Given the description of an element on the screen output the (x, y) to click on. 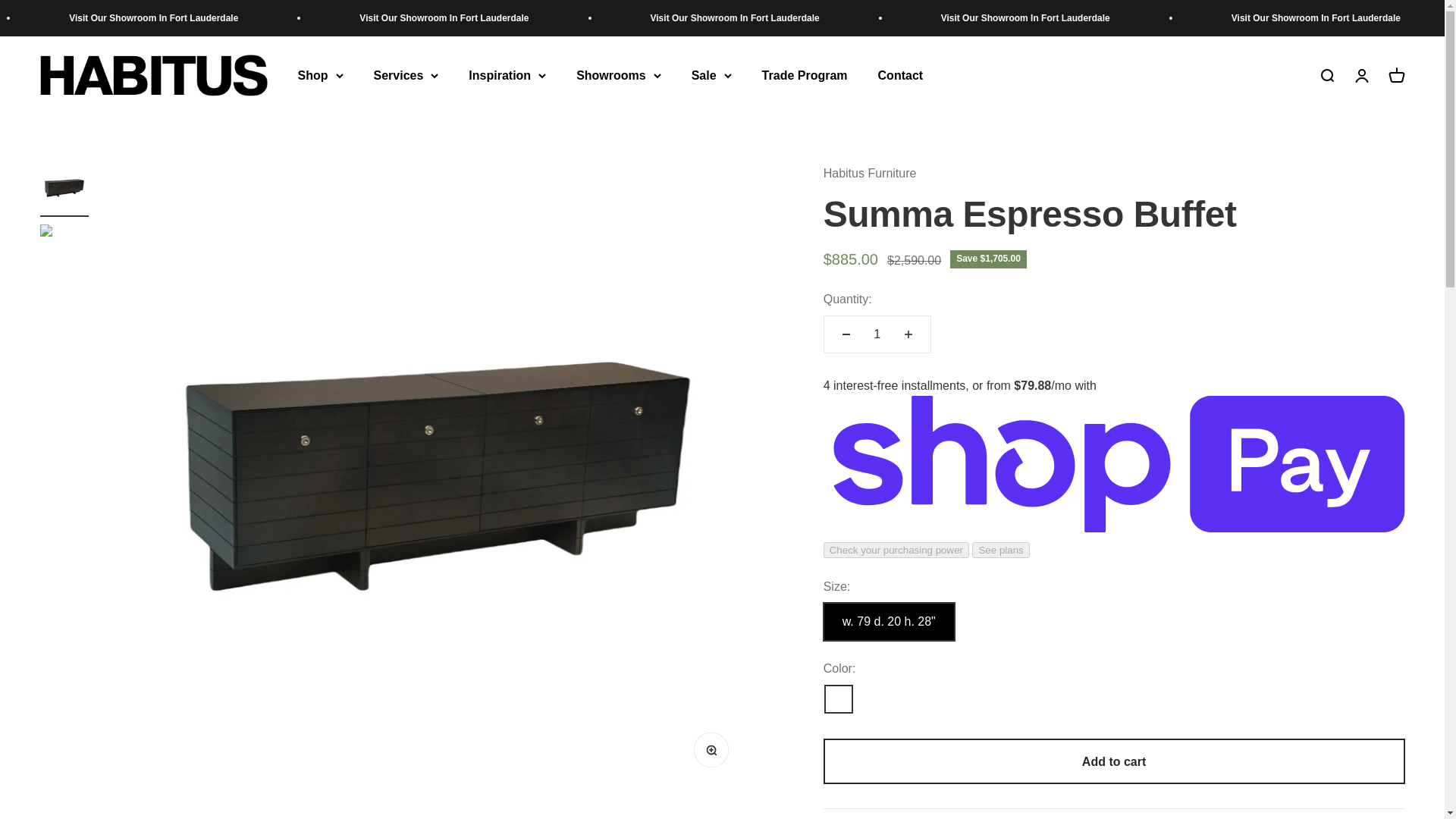
Visit Our Showroom In Fort Lauderdale (215, 18)
Visit Our Showroom In Fort Lauderdale (5, 18)
Visit Our Showroom In Fort Lauderdale (793, 18)
Visit Our Showroom In Fort Lauderdale (1082, 18)
1 (876, 334)
Visit Our Showroom In Fort Lauderdale (503, 18)
